Given the description of an element on the screen output the (x, y) to click on. 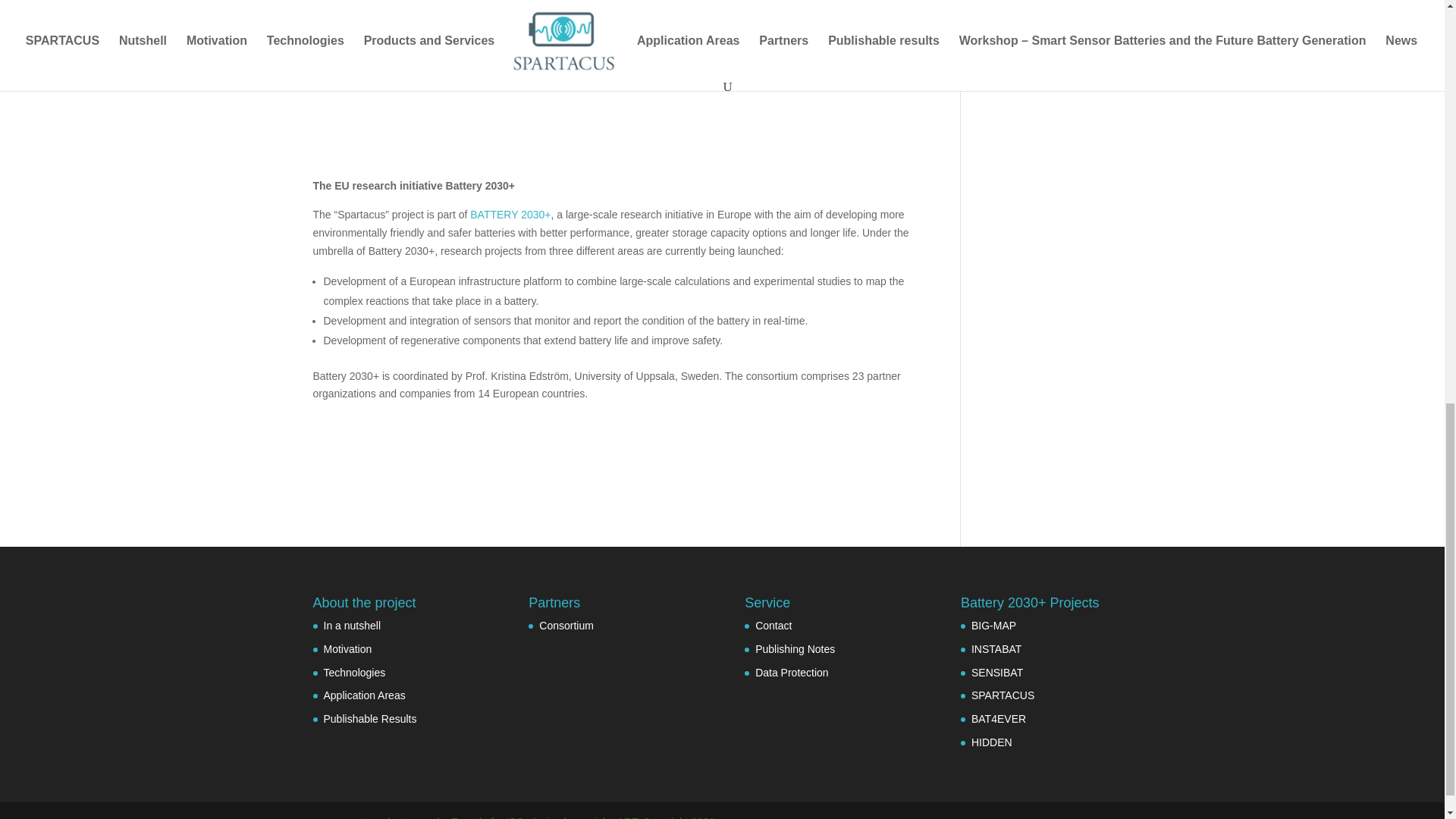
Consortium (566, 625)
Application Areas (363, 695)
In a nutshell (351, 625)
Data Protection (791, 672)
BIG-MAP (993, 625)
SENSIBAT (997, 672)
INSTABAT (996, 648)
Motivation (347, 648)
Publishable Results (369, 718)
Contact (773, 625)
